Given the description of an element on the screen output the (x, y) to click on. 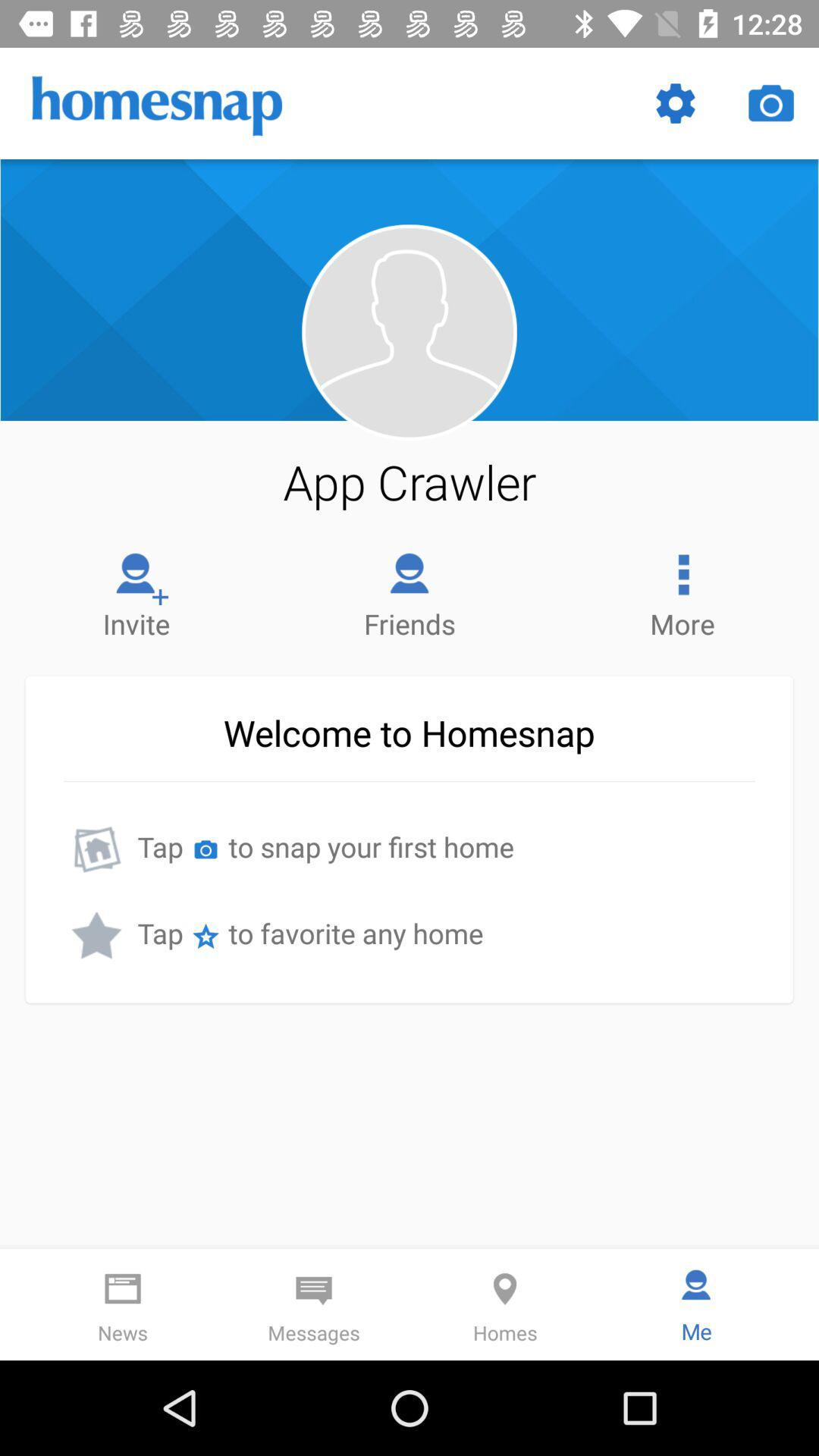
swipe until the app crawler item (409, 481)
